Given the description of an element on the screen output the (x, y) to click on. 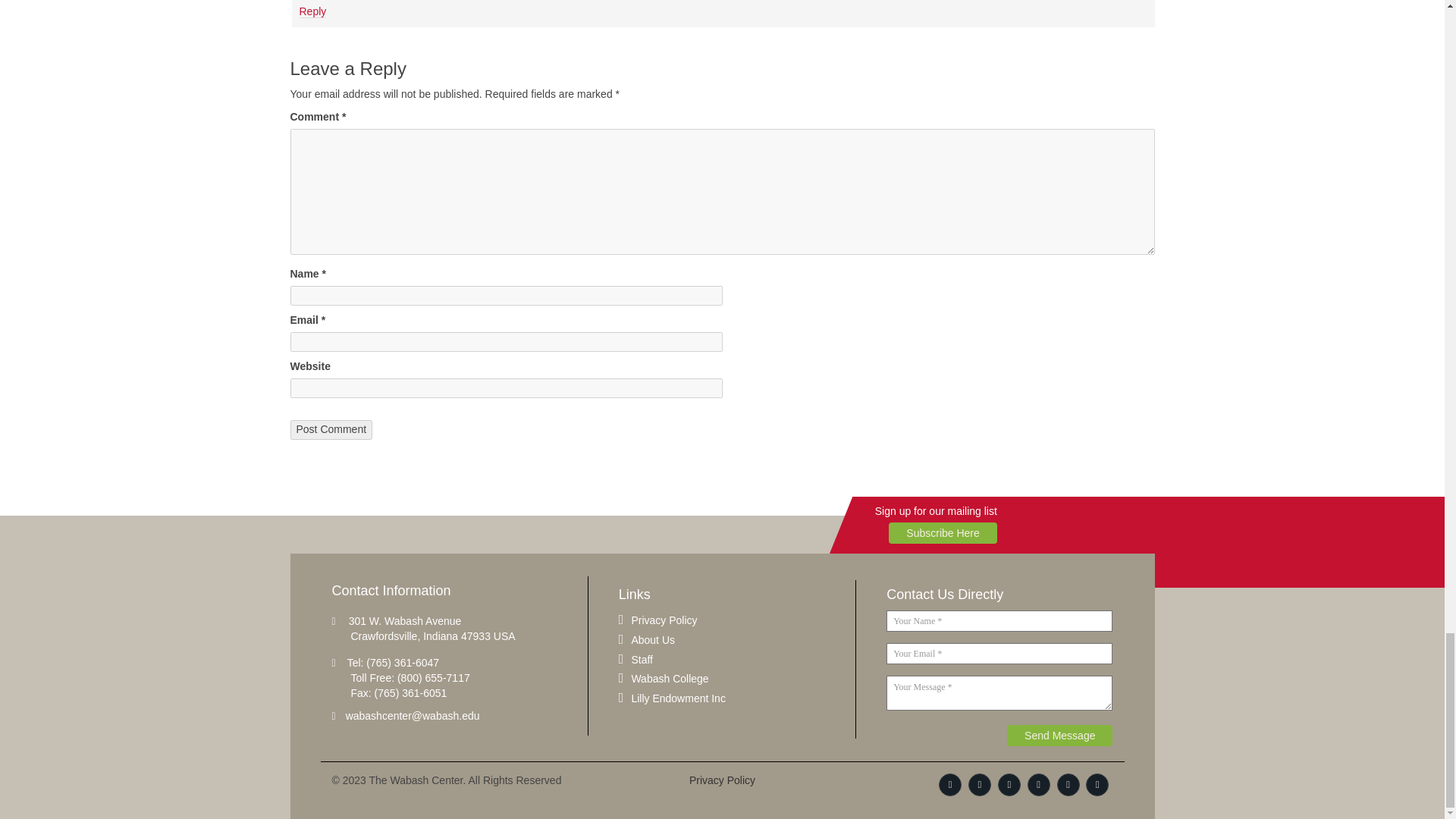
Post Comment (330, 429)
